Given the description of an element on the screen output the (x, y) to click on. 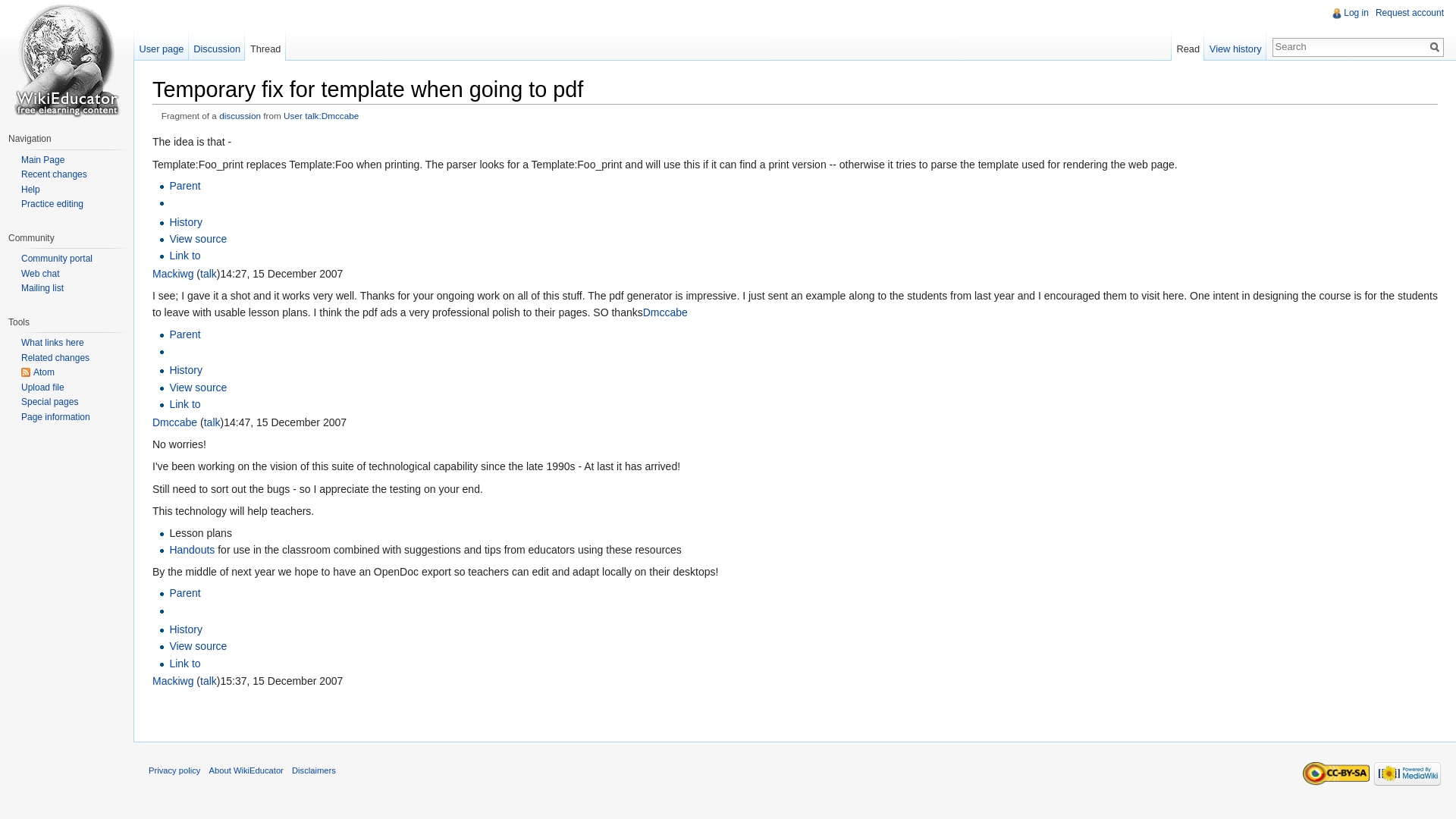
View source (197, 387)
View history (1235, 45)
Search (1434, 46)
Link to (184, 255)
talk (208, 273)
Link to (184, 663)
User:Dmccabe (665, 312)
Handouts4Teachers (191, 549)
Discussion (217, 45)
Go (1434, 46)
